Given the description of an element on the screen output the (x, y) to click on. 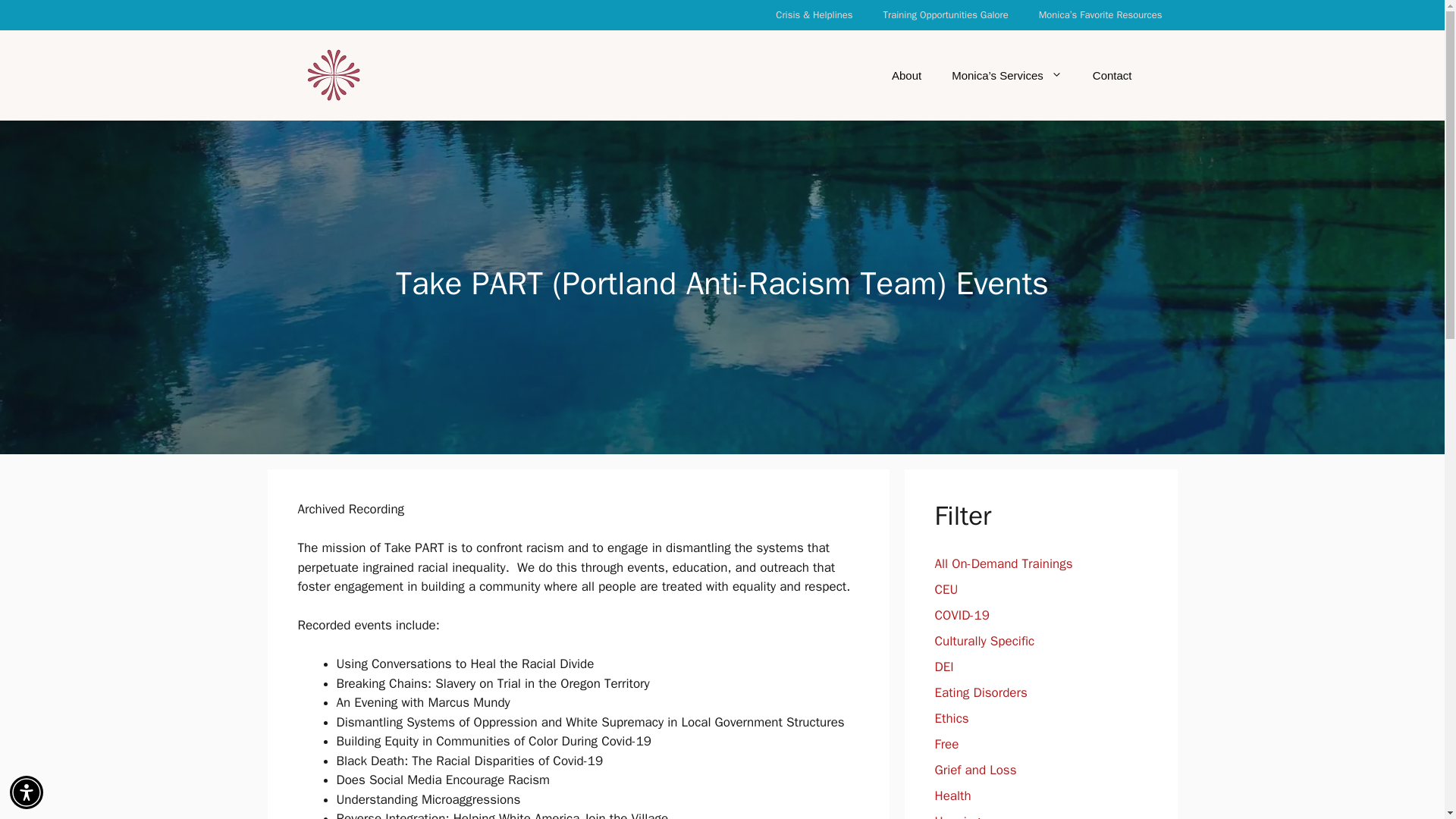
Ethics (951, 718)
DEI (943, 666)
Housing (956, 816)
Culturally Specific (983, 641)
Eating Disorders (980, 692)
Training Opportunities Galore (945, 15)
Health (952, 795)
CEU (946, 589)
Grief and Loss (975, 770)
About (906, 75)
COVID-19 (961, 615)
Free (946, 744)
All On-Demand Trainings (1002, 563)
Accessibility Menu (26, 792)
Contact (1112, 75)
